Given the description of an element on the screen output the (x, y) to click on. 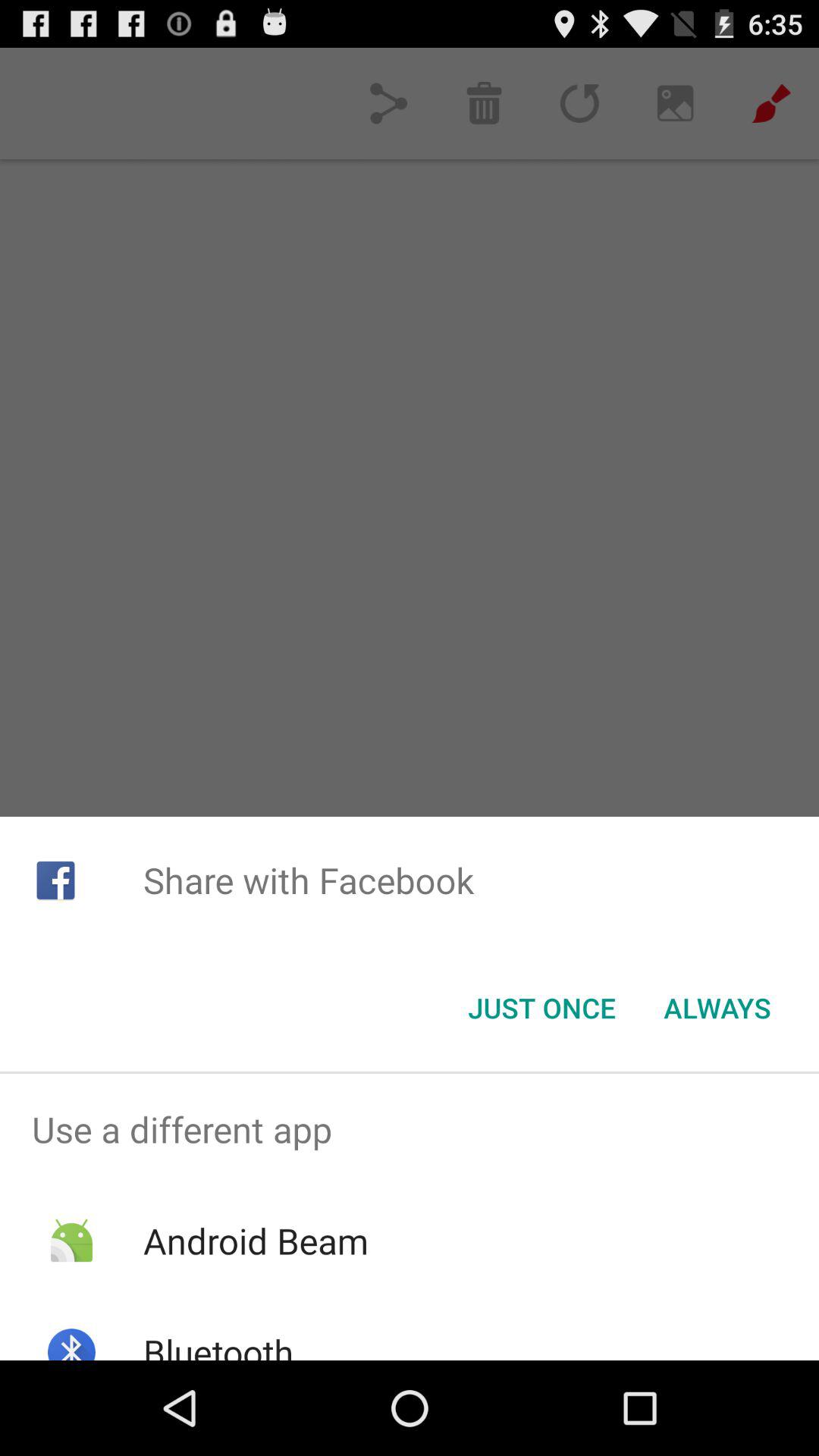
choose the icon below the share with facebook (541, 1007)
